Given the description of an element on the screen output the (x, y) to click on. 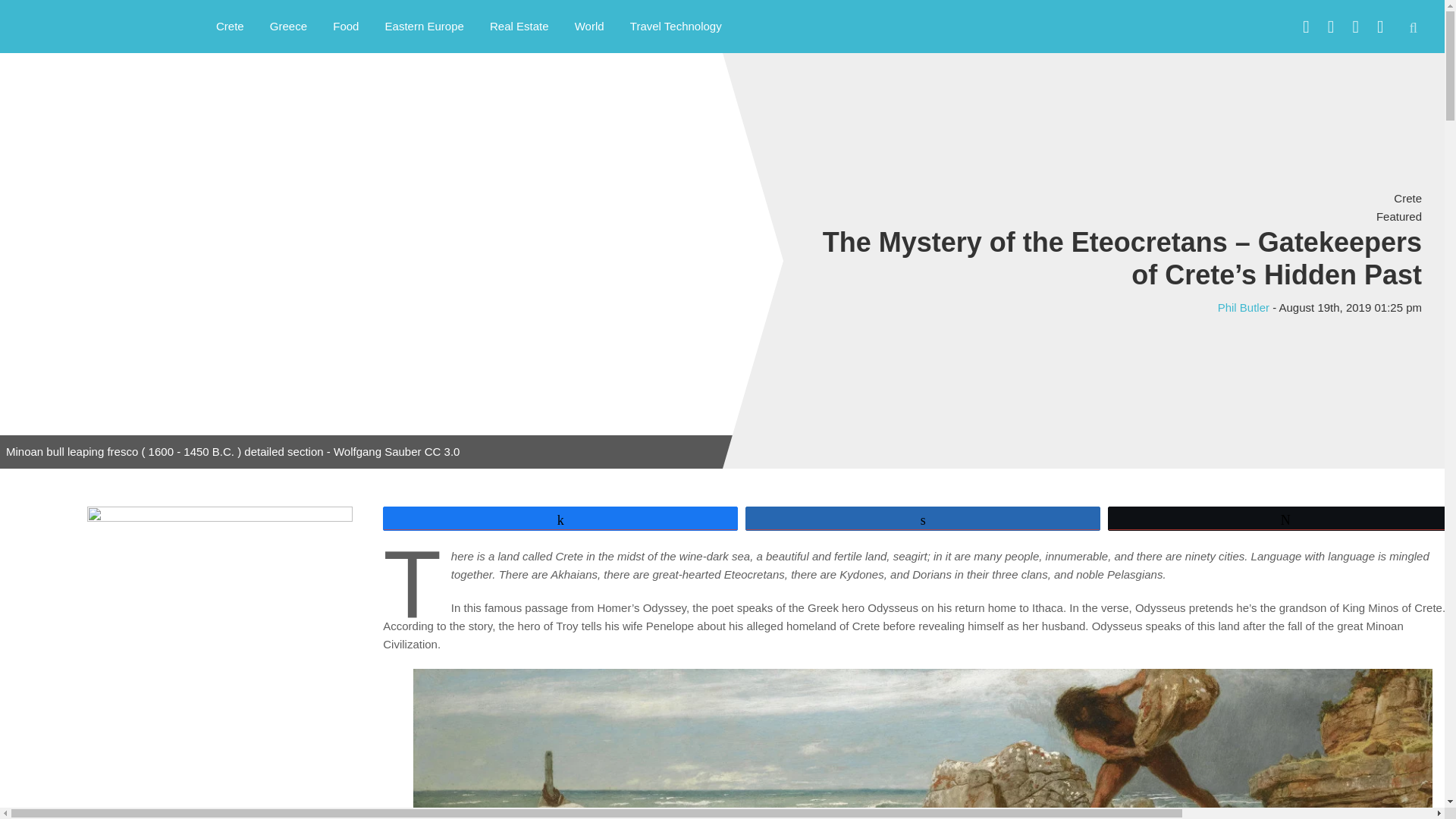
Eastern Europe (425, 26)
Argophilia (90, 24)
Phil Butler (1243, 307)
World (589, 26)
Crete (1407, 197)
Travel Technology (675, 26)
Real Estate (519, 26)
Food (345, 26)
Crete (230, 26)
Posts by Phil Butler (1243, 307)
Featured (1398, 215)
Greece (288, 26)
